Given the description of an element on the screen output the (x, y) to click on. 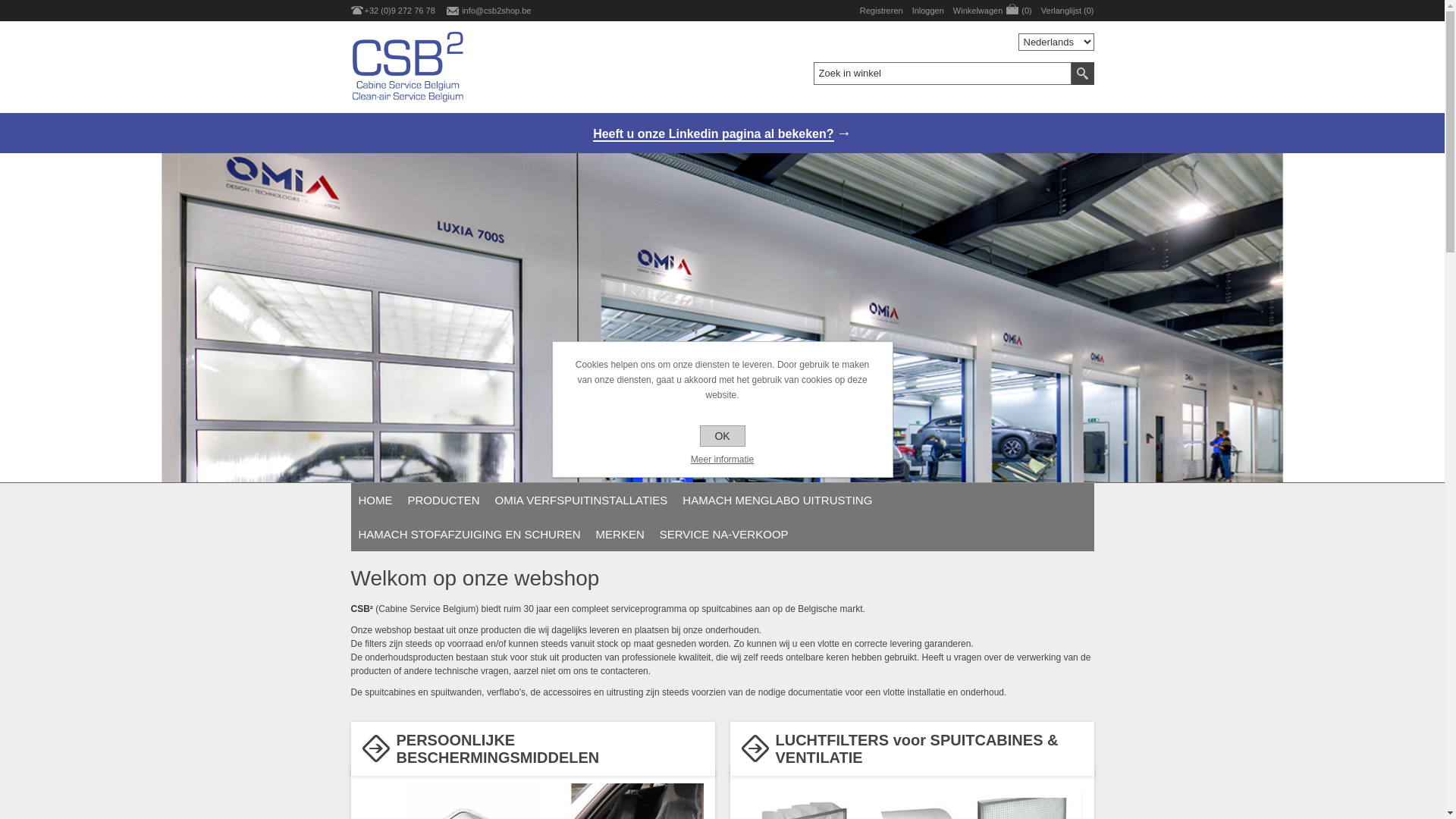
MERKEN Element type: text (620, 534)
info@csb2shop.be Element type: text (495, 10)
OMIA VERFSPUITINSTALLATIES Element type: text (581, 500)
Verlanglijst (0) Element type: text (1067, 10)
Zoek Element type: text (1081, 73)
Inloggen Element type: text (928, 10)
HAMACH MENGLABO UITRUSTING Element type: text (776, 500)
SERVICE NA-VERKOOP Element type: text (724, 534)
OK Element type: text (721, 435)
PERSOONLIJKE BESCHERMINGSMIDDELEN Element type: text (497, 748)
HAMACH STOFAFZUIGING EN SCHUREN Element type: text (468, 534)
Meer informatie Element type: text (721, 459)
Registreren Element type: text (881, 10)
Winkelwagen (0) Element type: text (992, 10)
LUCHTFILTERS voor SPUITCABINES & VENTILATIE Element type: text (916, 748)
PRODUCTEN Element type: text (443, 500)
HOME Element type: text (374, 500)
